Given the description of an element on the screen output the (x, y) to click on. 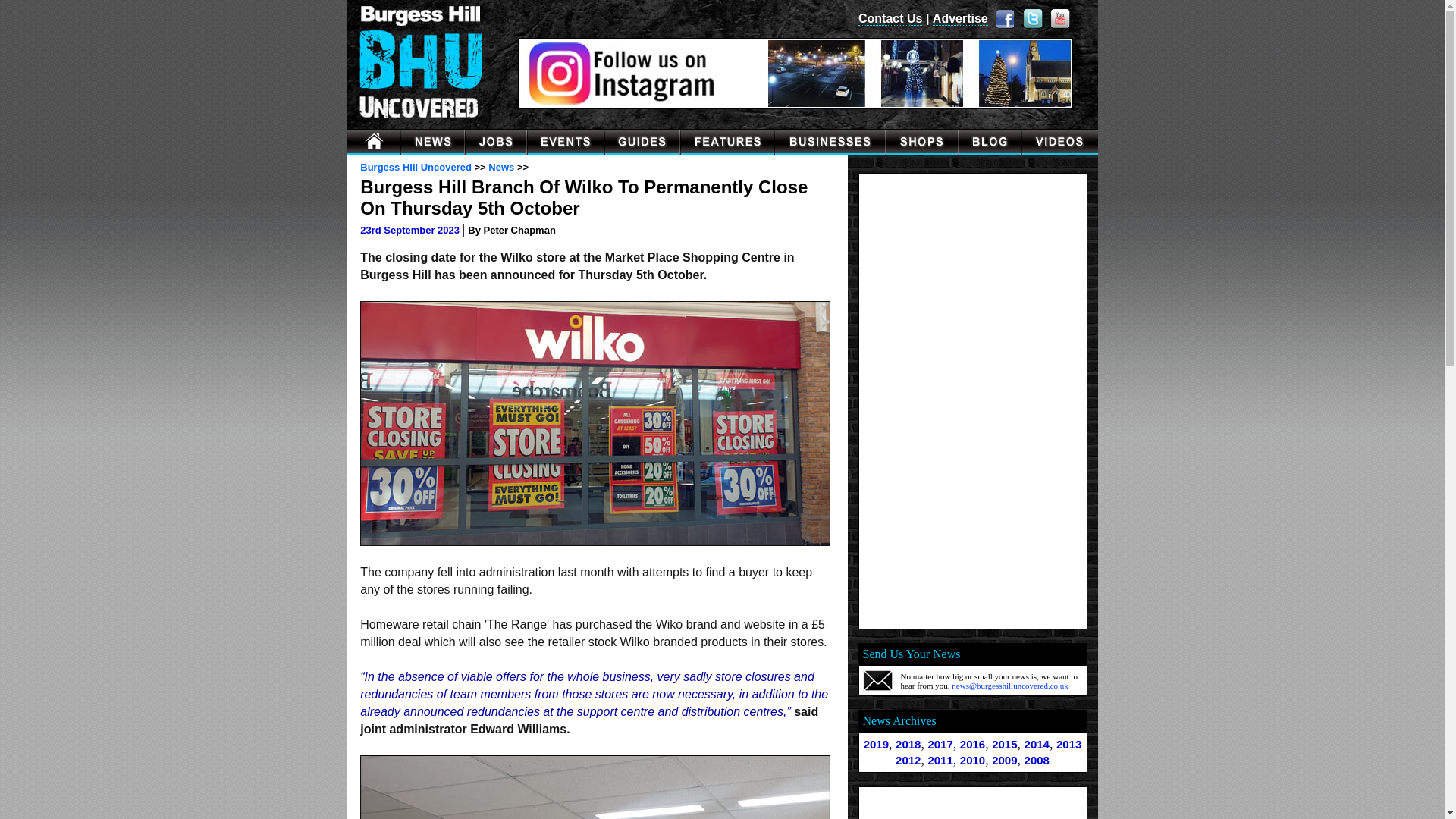
blog (990, 141)
shopping in burgess hill (921, 141)
Burgess Hill Uncovered (415, 166)
burgess hill uncovered (374, 141)
2019 (875, 744)
jobs (496, 141)
2012 (907, 759)
Advertise (960, 18)
burgess hill videos (1059, 141)
2013 (1069, 744)
